Given the description of an element on the screen output the (x, y) to click on. 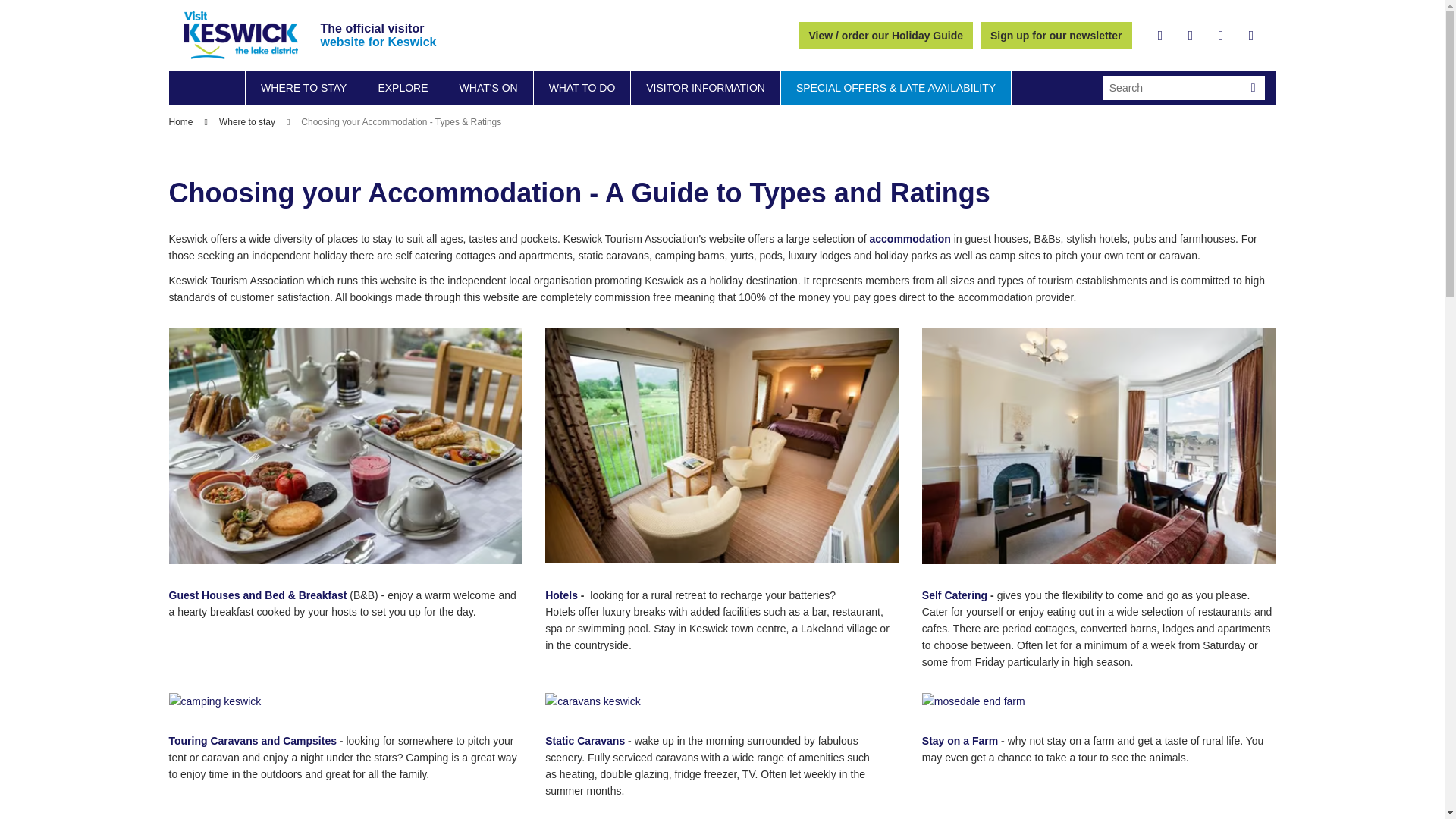
Instagram (1220, 35)
Pinterest (1250, 35)
Facebook (1160, 35)
Twitter (1189, 35)
